Given the description of an element on the screen output the (x, y) to click on. 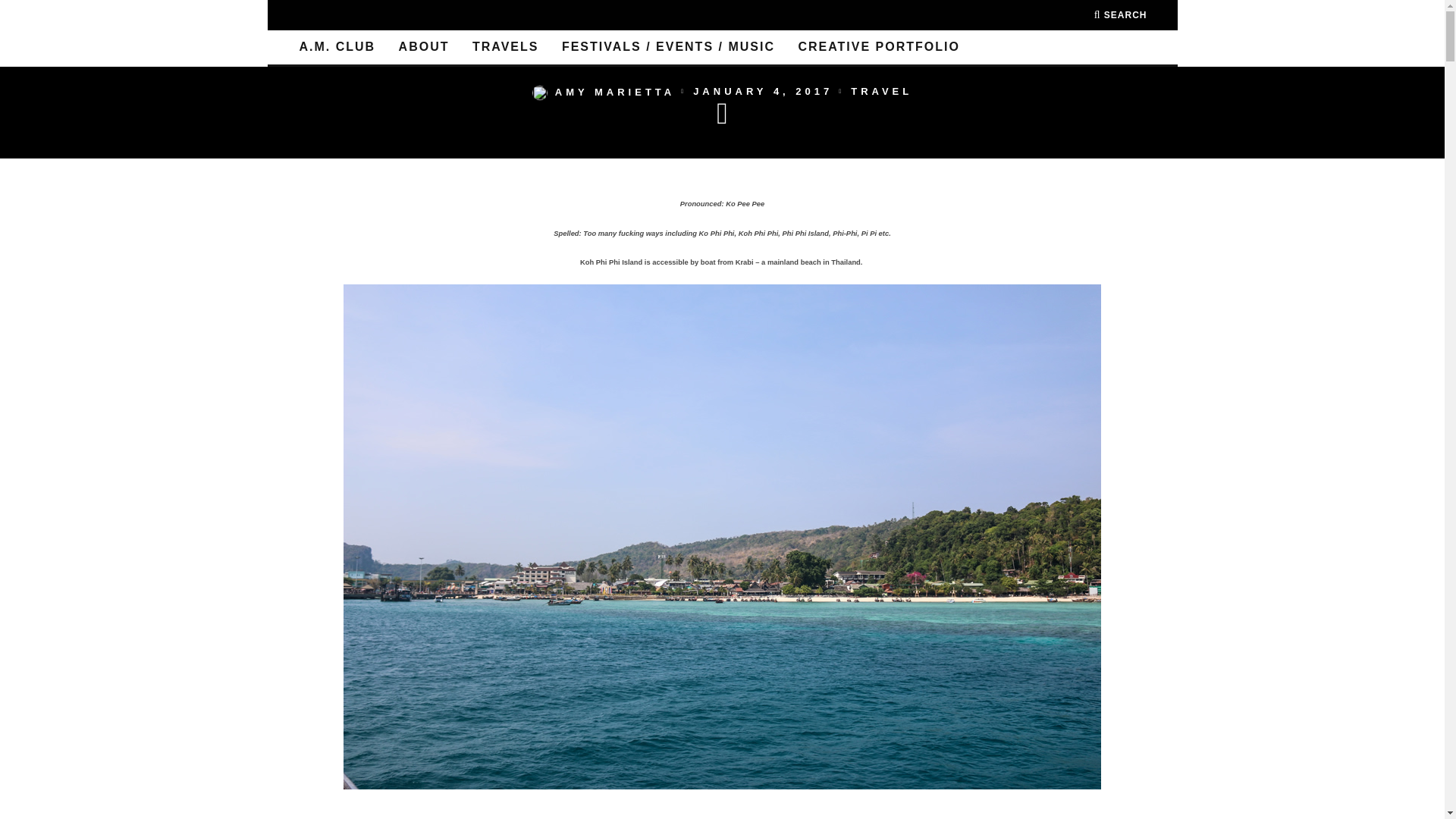
A.M. CLUB (336, 47)
View all posts in Travel (881, 91)
TRAVELS (505, 47)
ABOUT (424, 47)
Search (1120, 15)
SEARCH (1120, 15)
